Given the description of an element on the screen output the (x, y) to click on. 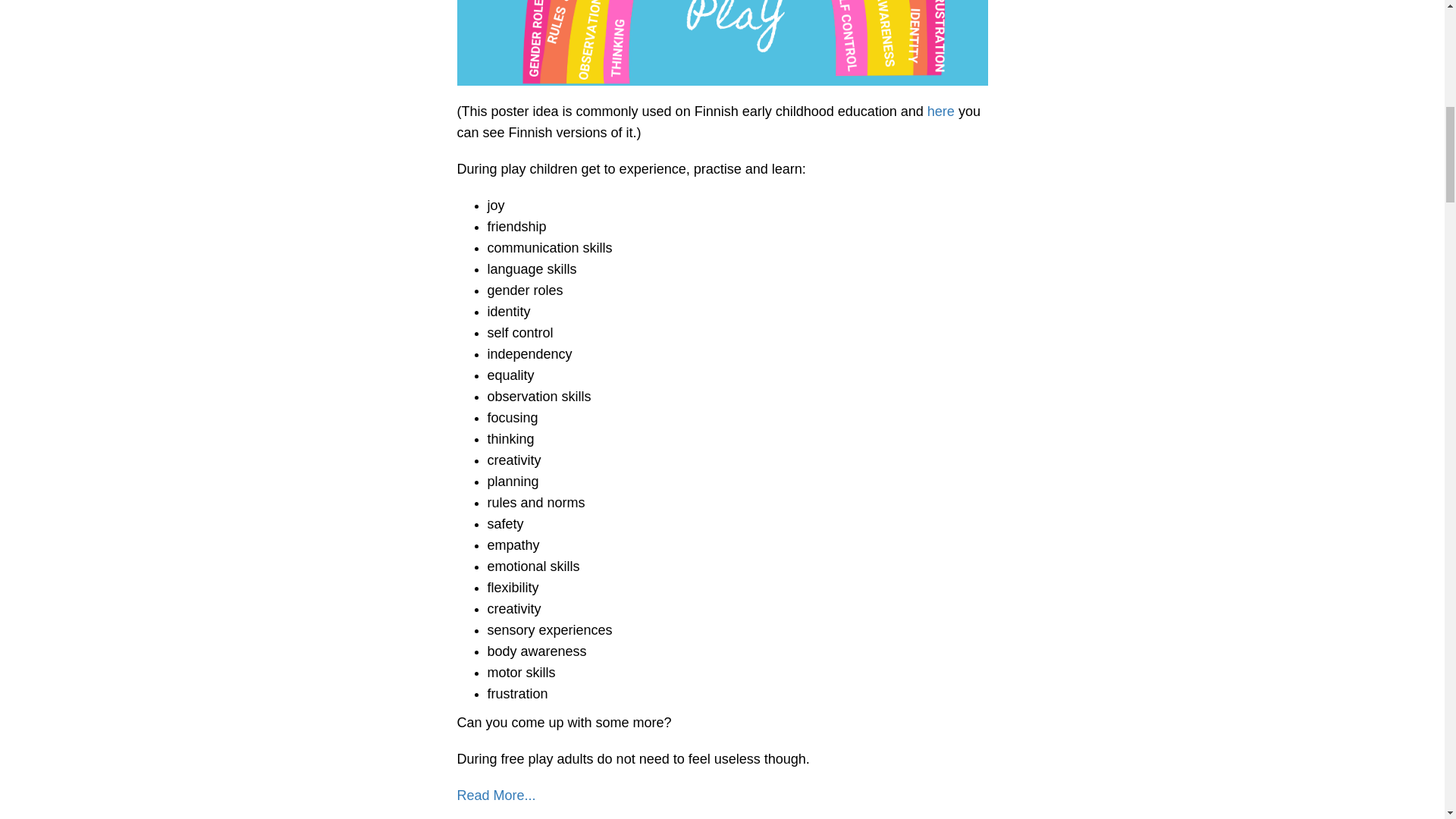
here (941, 111)
Read More... (496, 795)
